Given the description of an element on the screen output the (x, y) to click on. 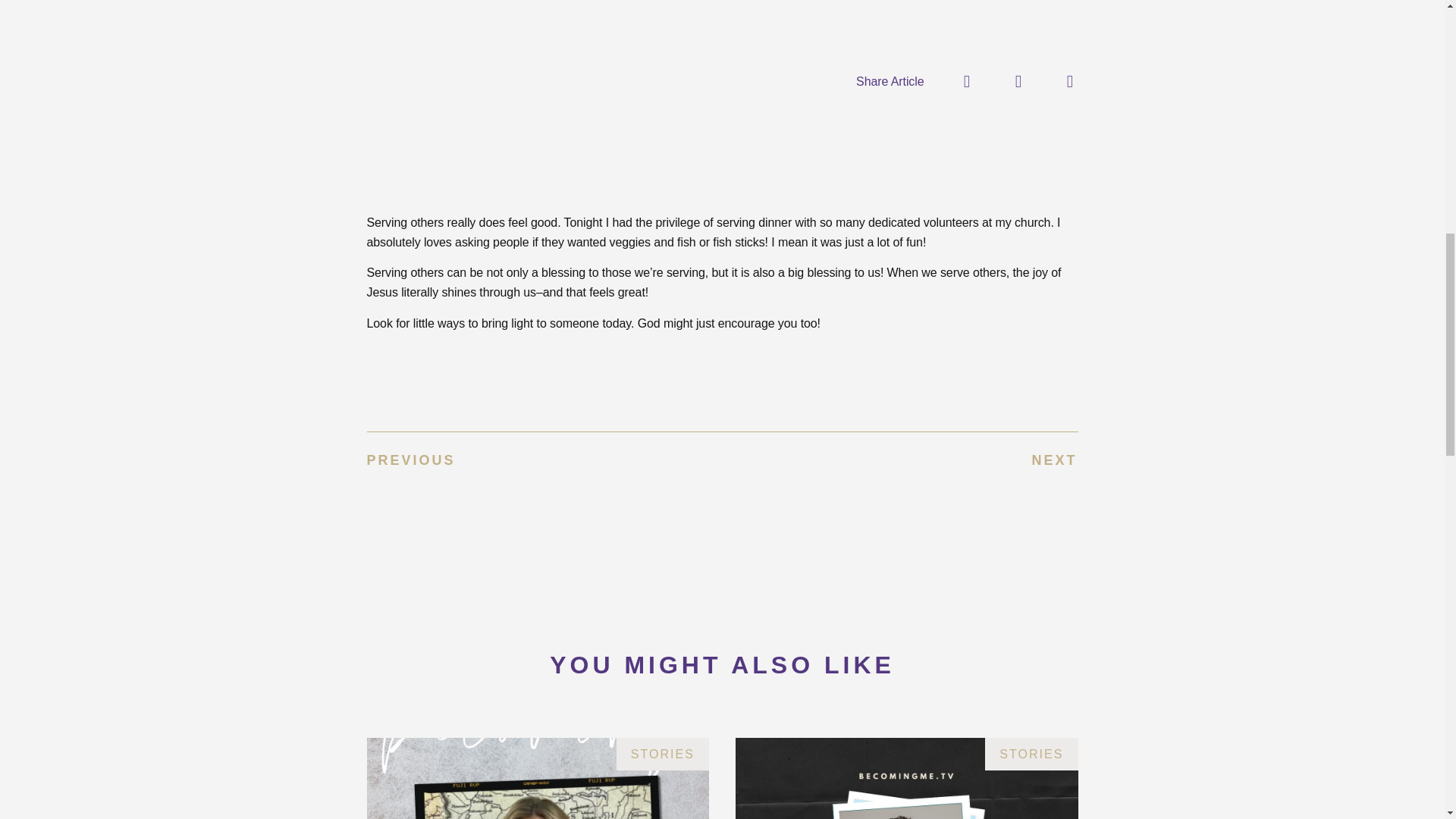
PREVIOUS (544, 460)
NEXT (899, 460)
